Given the description of an element on the screen output the (x, y) to click on. 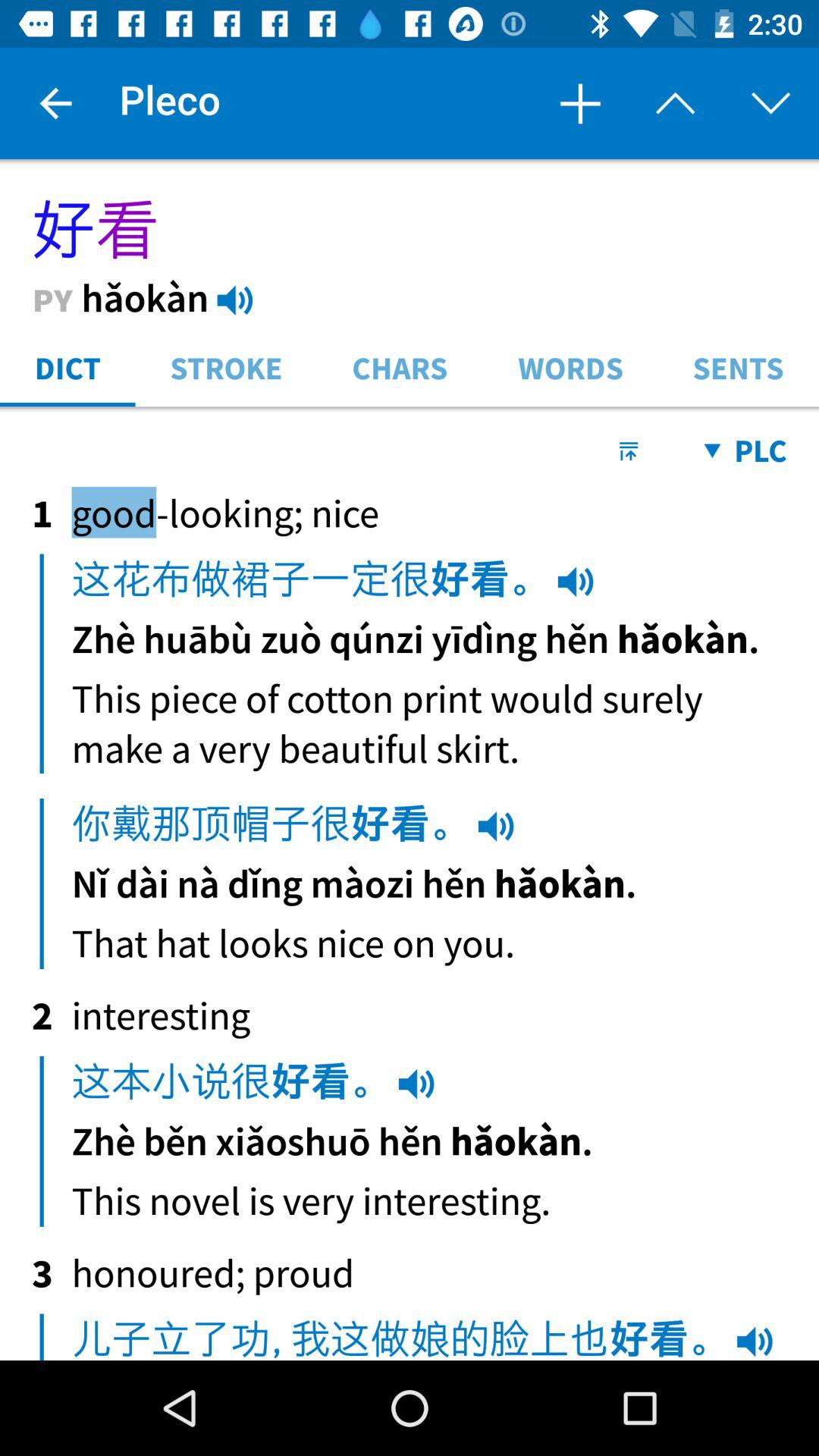
click on the button beside dict (226, 366)
click on button next to  (675, 103)
